Given the description of an element on the screen output the (x, y) to click on. 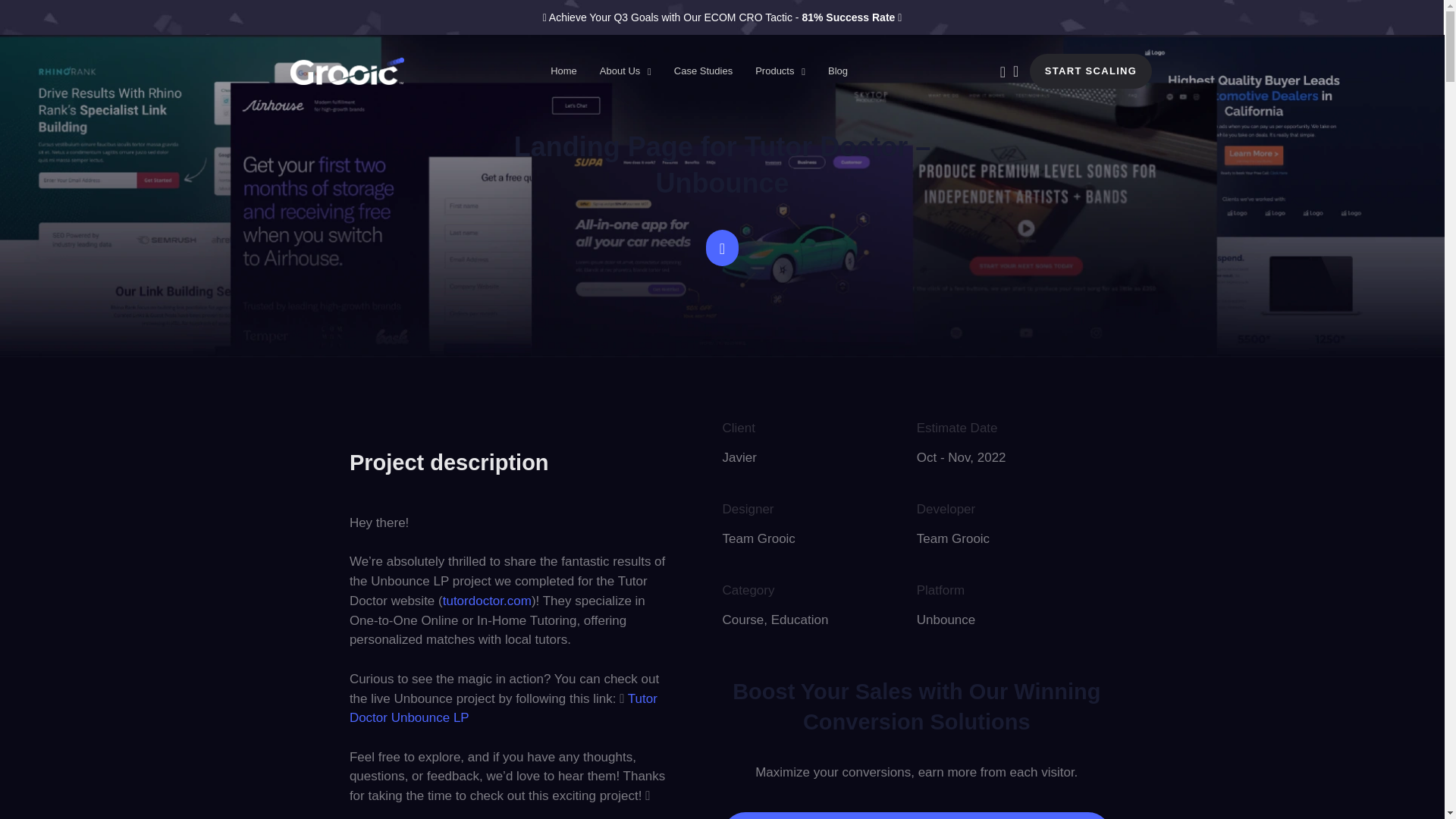
tutordoctor.com (486, 600)
Tutor Doctor Unbounce LP (503, 708)
Products (780, 71)
START SCALING (1090, 71)
Case Studies (703, 71)
About Us (625, 71)
